Given the description of an element on the screen output the (x, y) to click on. 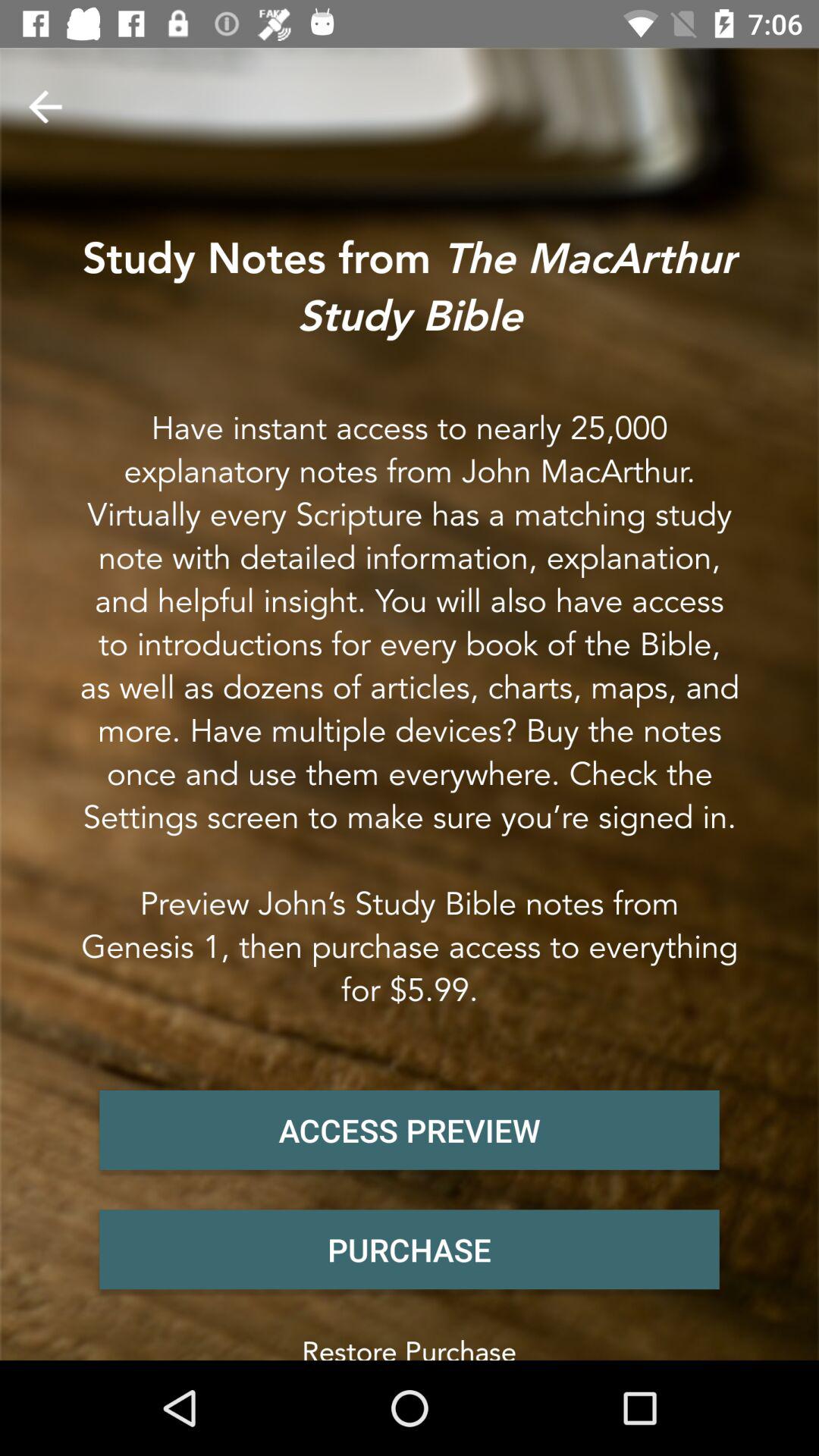
tap the icon below purchase (409, 1344)
